Given the description of an element on the screen output the (x, y) to click on. 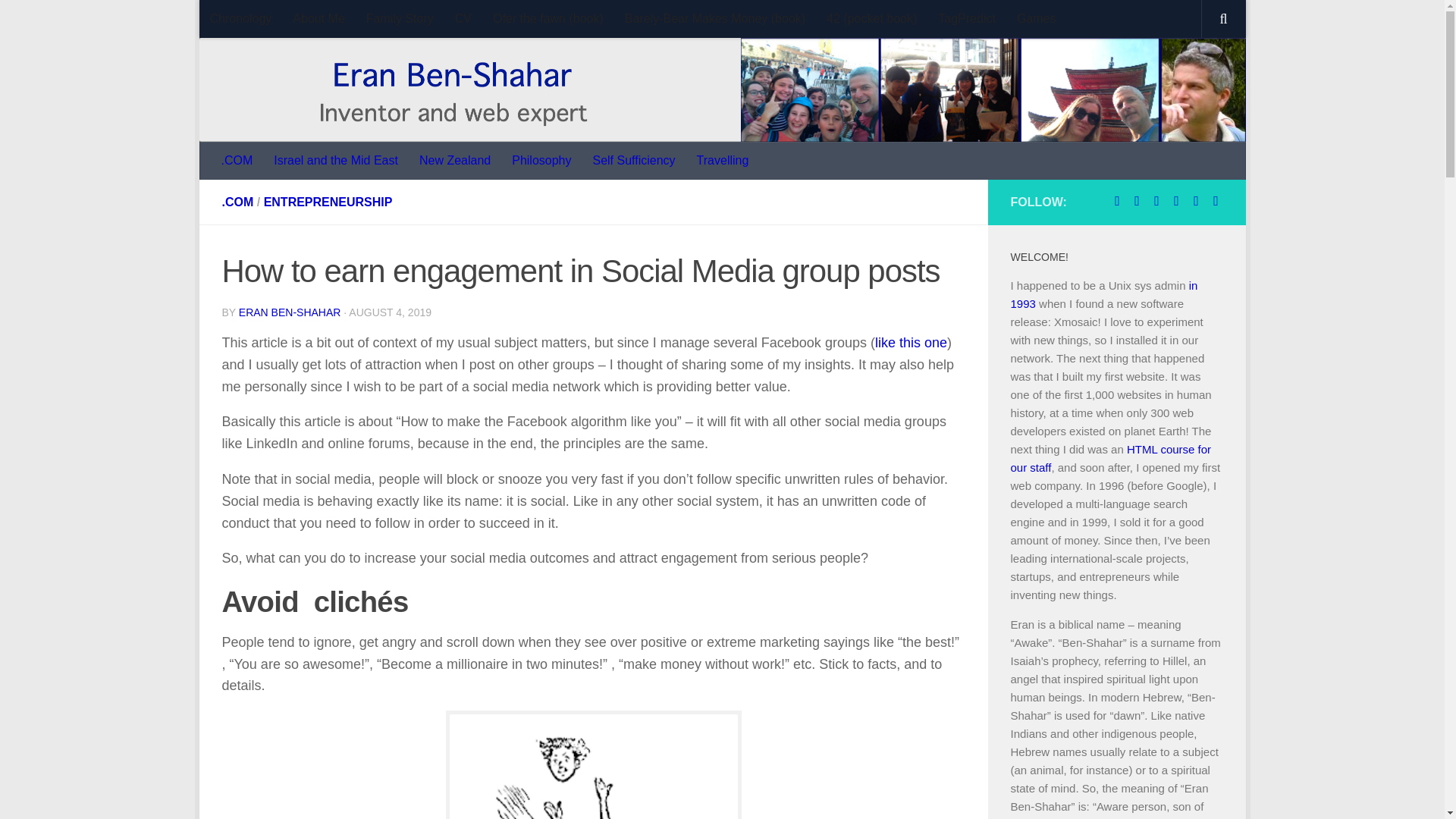
Family Story (399, 18)
Philosophy (540, 160)
Travelling (722, 160)
CV (462, 18)
Games (1036, 18)
ENTREPRENEURSHIP (328, 201)
New Zealand (454, 160)
Self Sufficiency (632, 160)
Israel and the Mid East (336, 160)
Posts by Eran Ben-Shahar (289, 312)
.COM (237, 160)
.COM (237, 201)
like this one (911, 342)
ERAN BEN-SHAHAR (289, 312)
G (1156, 201)
